Given the description of an element on the screen output the (x, y) to click on. 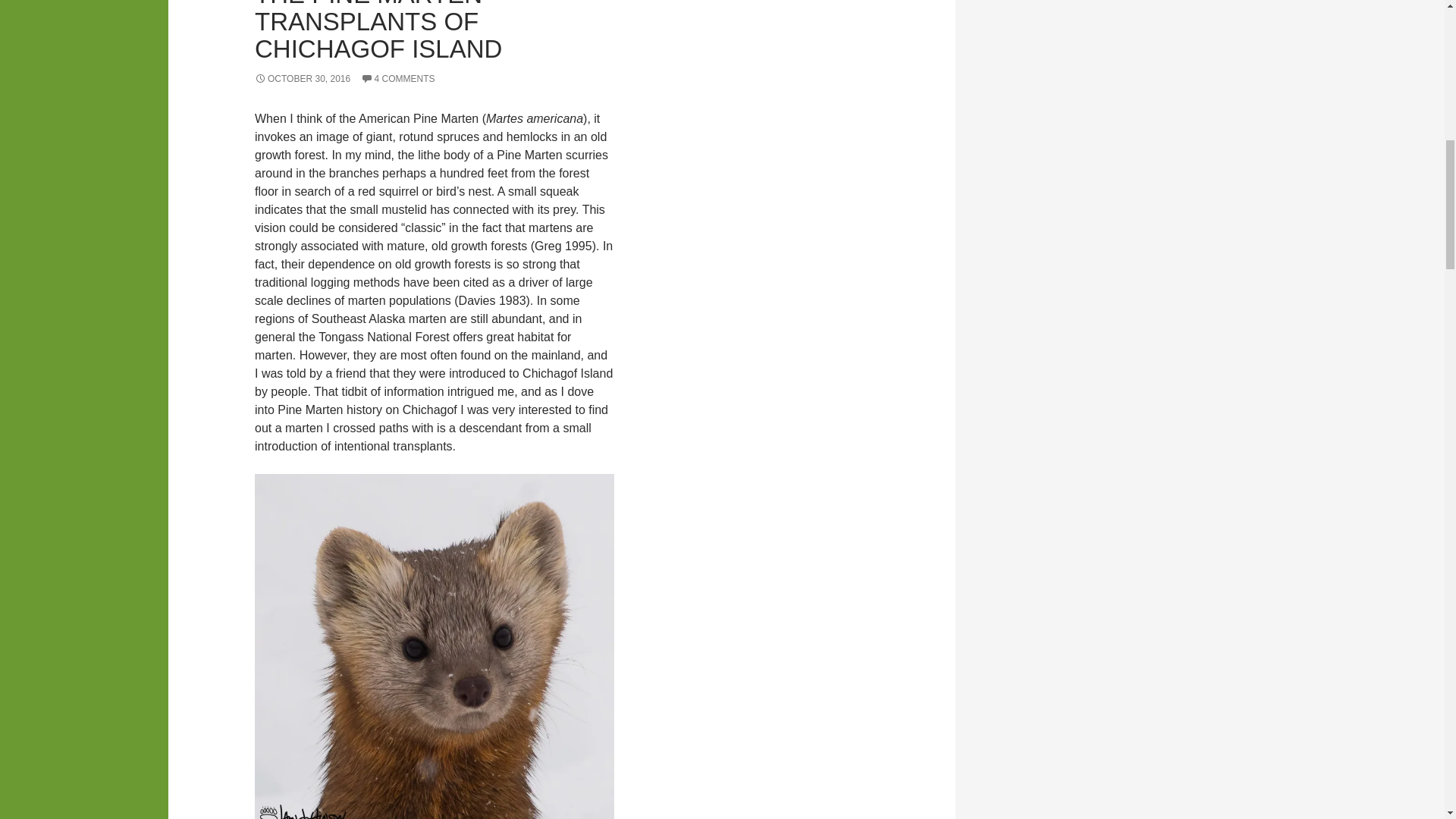
THE PINE MARTEN TRANSPLANTS OF CHICHAGOF ISLAND (378, 31)
OCTOBER 30, 2016 (302, 78)
4 COMMENTS (398, 78)
